Given the description of an element on the screen output the (x, y) to click on. 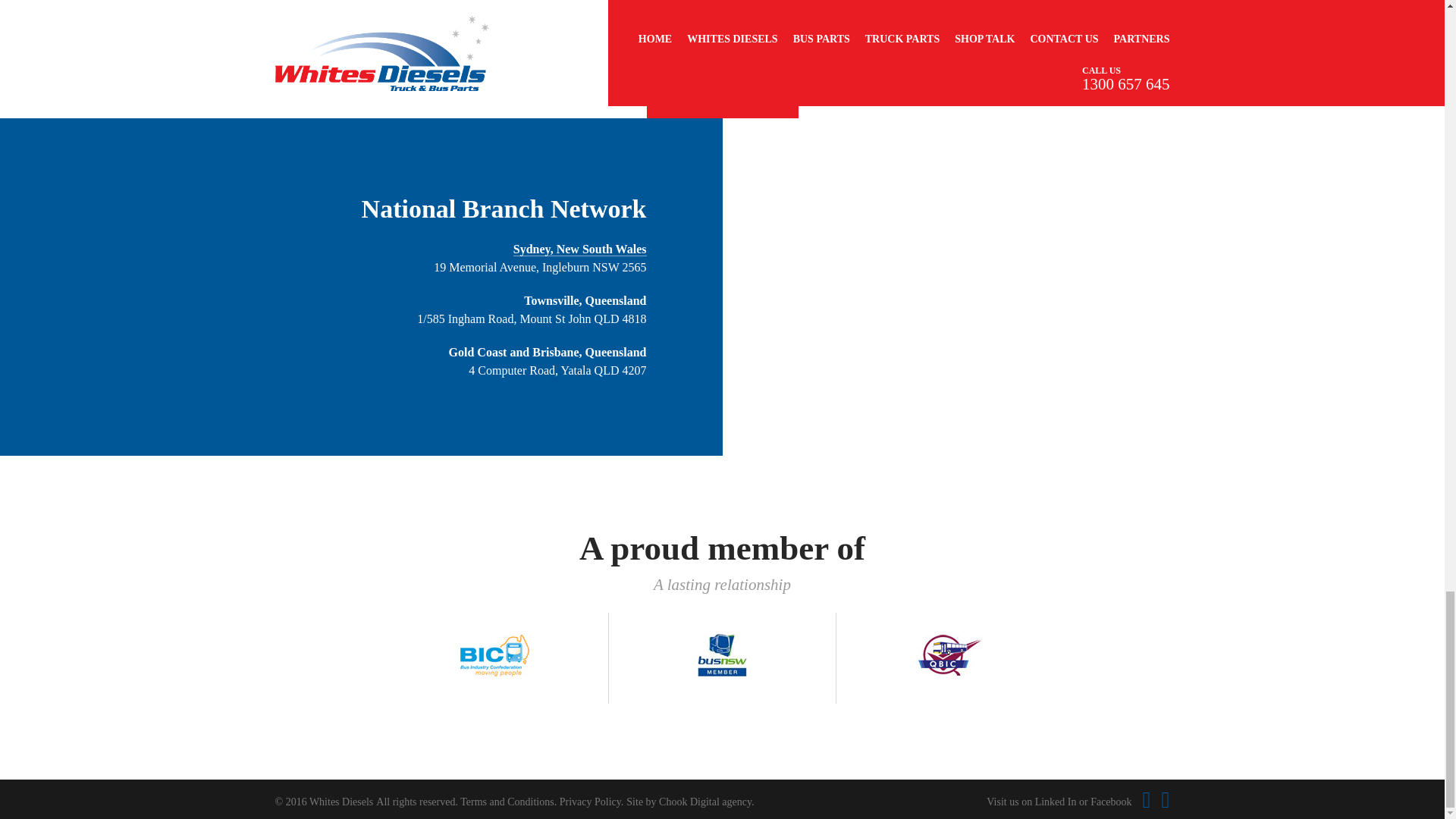
Submit (721, 63)
Privacy Policy (590, 801)
Gold Coast and Brisbane, Queensland (547, 351)
Sydney, New South Wales (579, 248)
Townsville, Queensland (585, 300)
Chook Digital agency. (706, 801)
Submit (721, 63)
Terms and Conditions (506, 801)
